Given the description of an element on the screen output the (x, y) to click on. 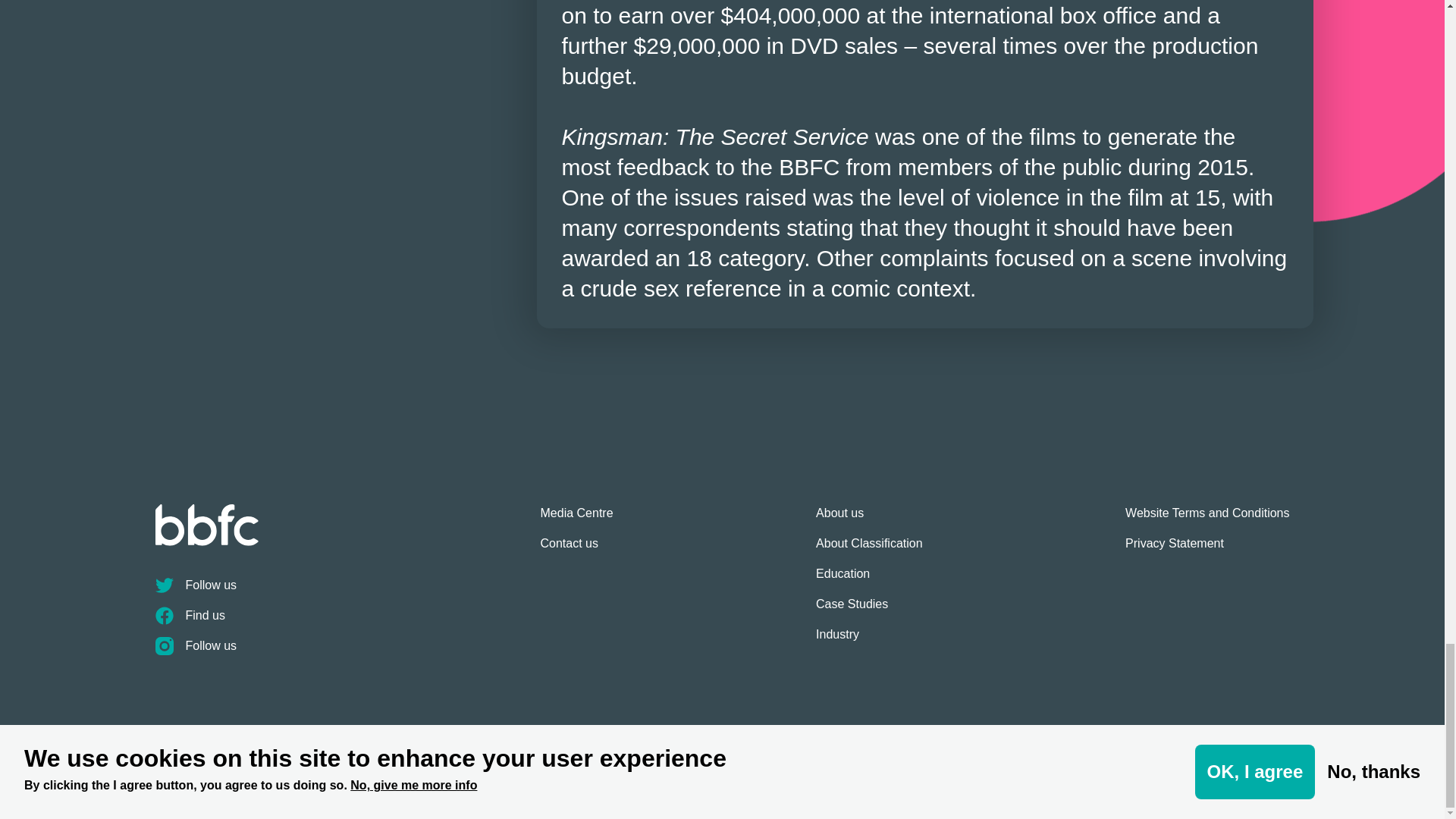
Education (869, 580)
About us (869, 519)
Follow us (347, 591)
Media Centre (576, 519)
Follow us (347, 652)
About Classification (869, 549)
Contact us (576, 549)
Find us (347, 621)
